Given the description of an element on the screen output the (x, y) to click on. 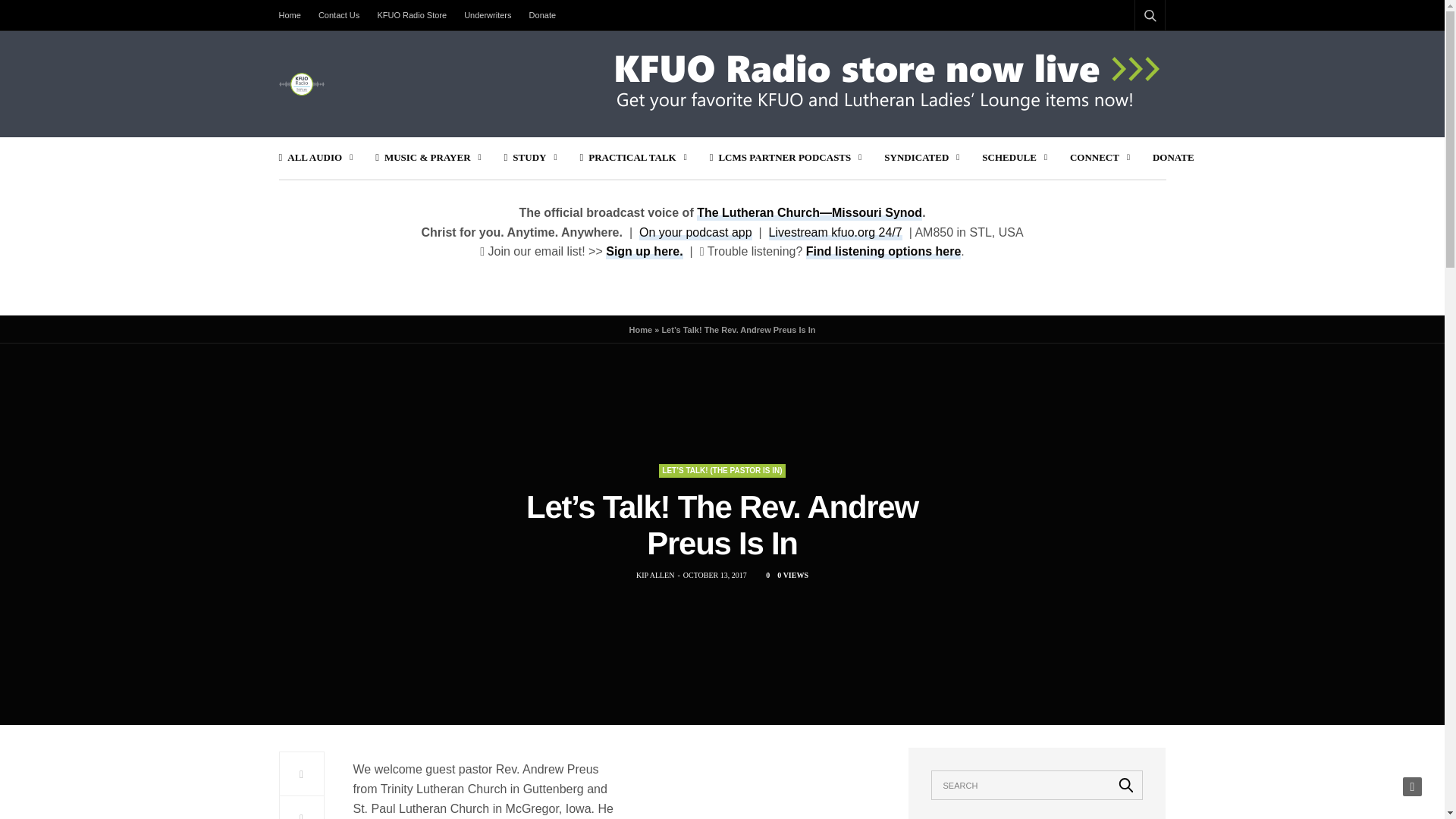
Donate (542, 15)
Search (1125, 784)
Underwriters (487, 15)
KFUO Radio Store (411, 15)
ALL AUDIO (316, 157)
Home (293, 15)
Posts by Kip Allen (655, 575)
Search (1129, 51)
Contact Us (338, 15)
